Given the description of an element on the screen output the (x, y) to click on. 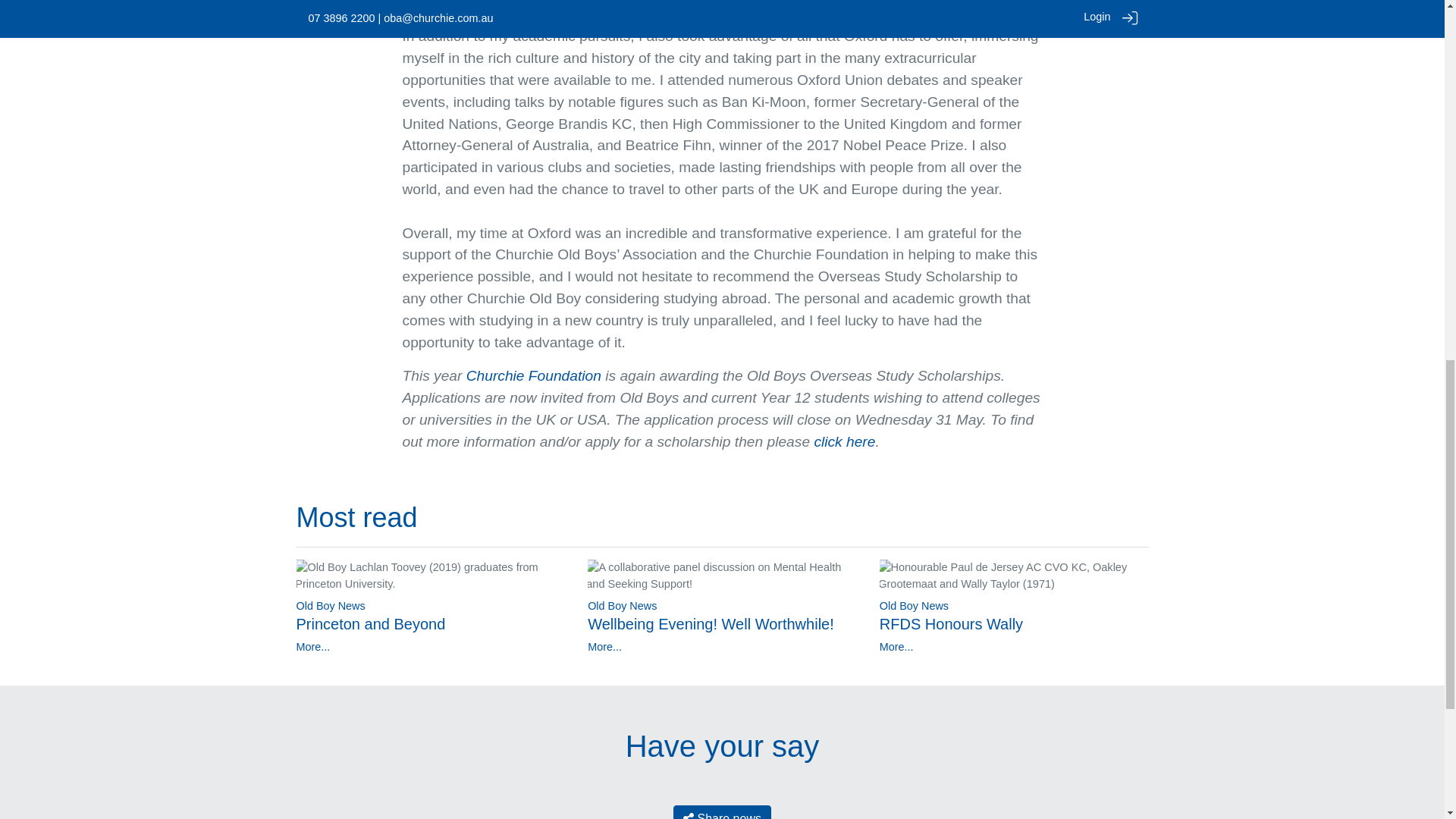
Old Boy News (330, 605)
Churchie Foundation (533, 375)
click here (844, 441)
Princeton and Beyond (370, 623)
